Given the description of an element on the screen output the (x, y) to click on. 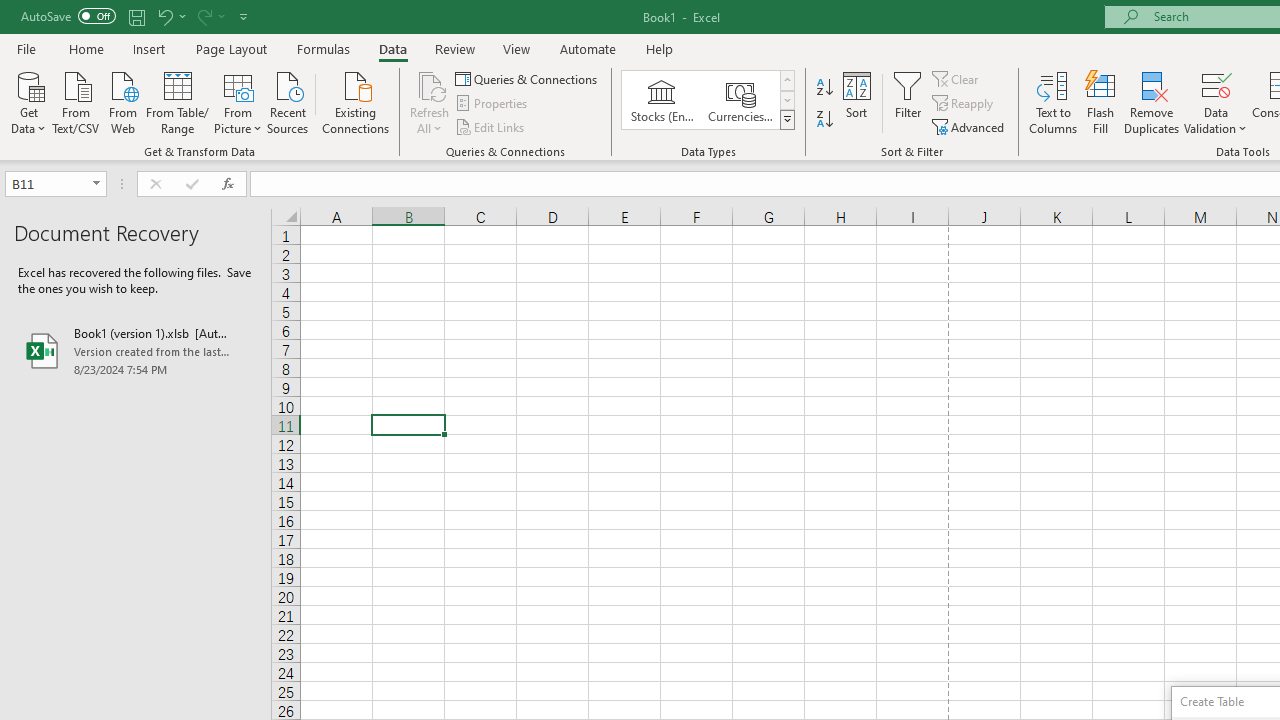
From Picture (238, 101)
Review (454, 48)
Data Validation... (1215, 84)
Existing Connections (355, 101)
Quick Access Toolbar (136, 16)
From Web (122, 101)
Data Types (786, 120)
Queries & Connections (527, 78)
Data Validation... (1215, 102)
Data (392, 48)
